Given the description of an element on the screen output the (x, y) to click on. 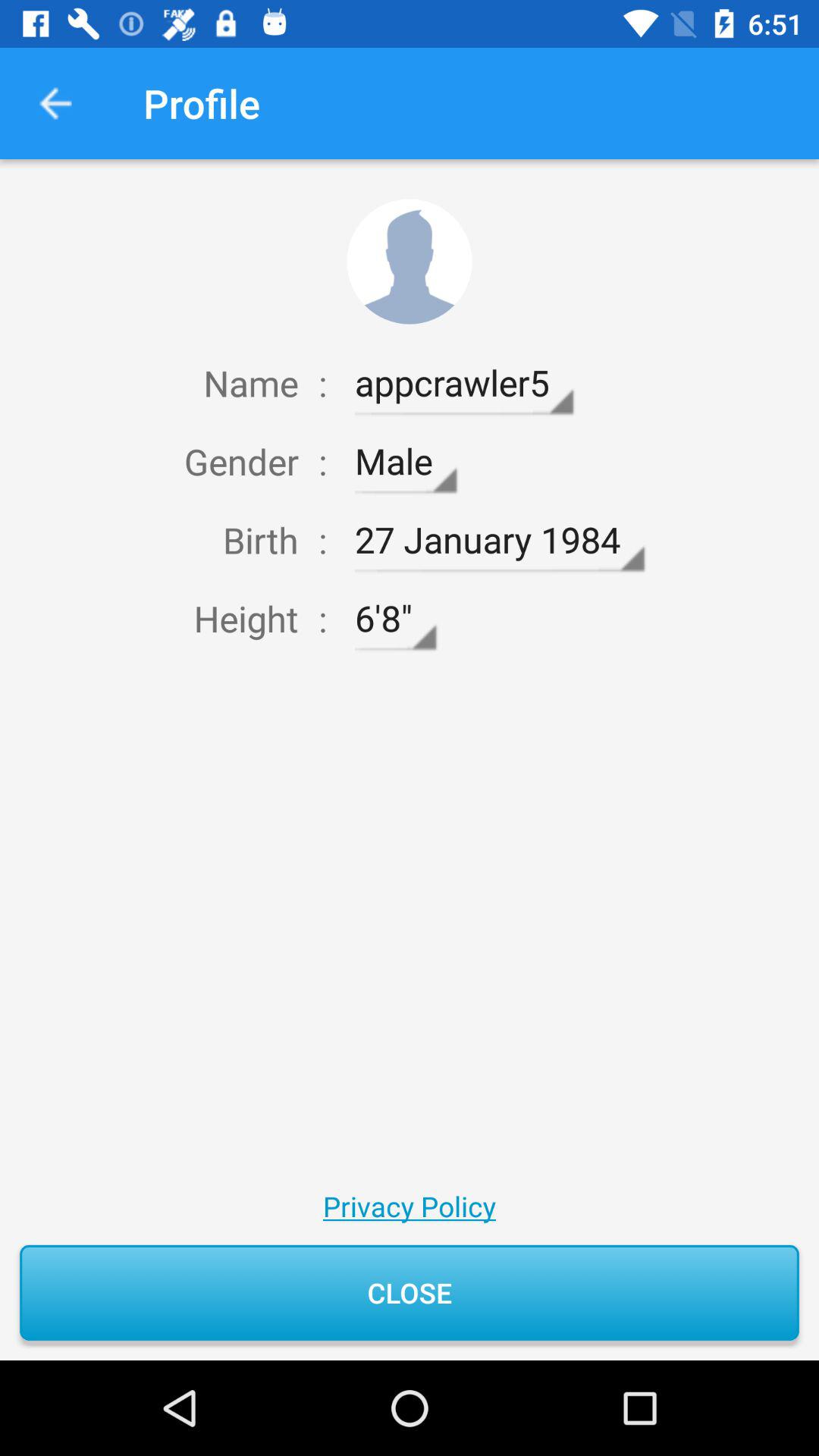
turn on the item above 6'8" icon (499, 540)
